Given the description of an element on the screen output the (x, y) to click on. 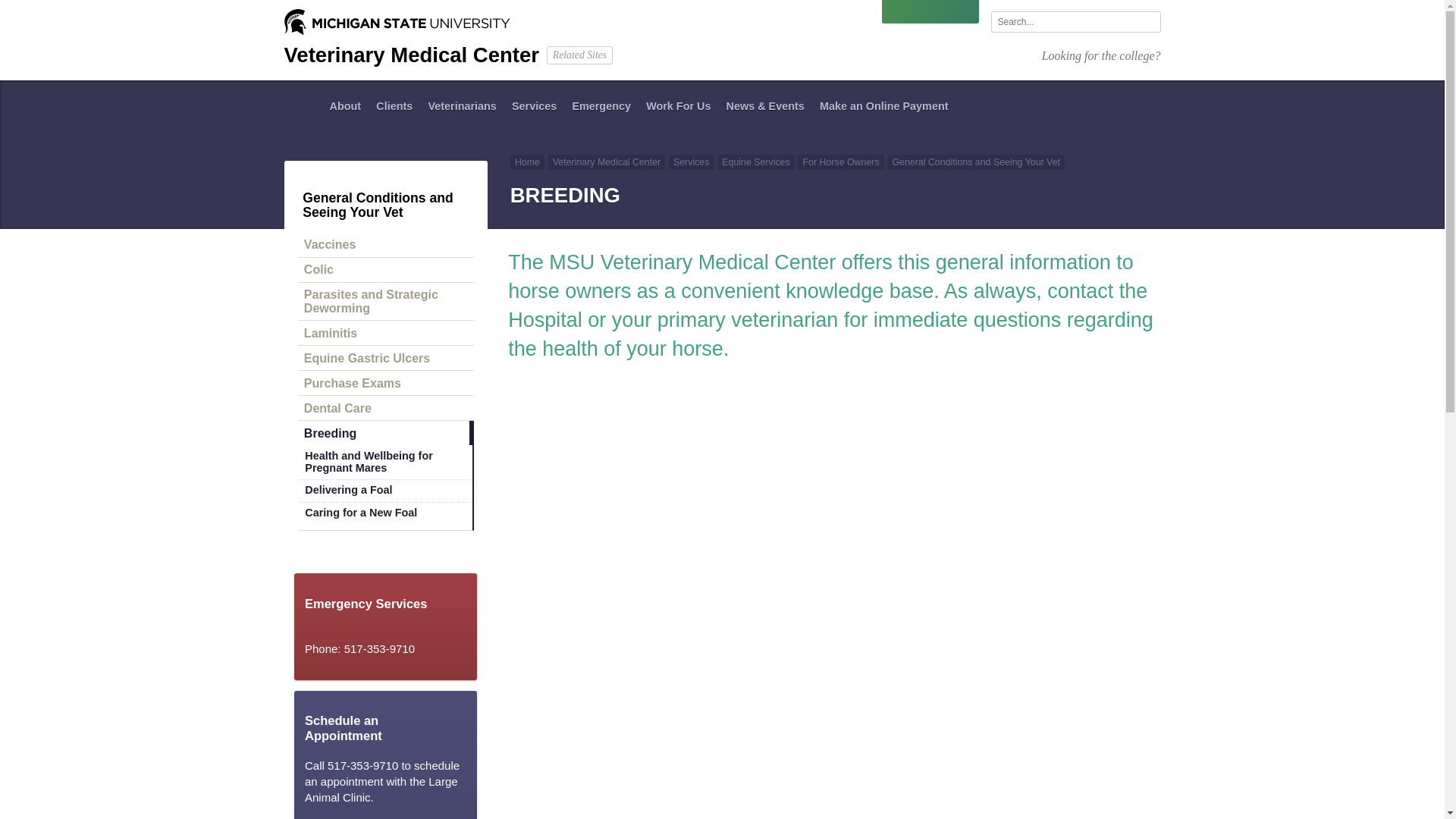
search button (1147, 22)
Home (527, 161)
Veterinarians (461, 105)
Home (302, 105)
Make an Online Payment (884, 105)
Work For Us (678, 105)
Colic (386, 269)
Parasites and Strategic Deworming (386, 301)
Home (302, 105)
Equine Gastric Ulcers (386, 357)
